Given the description of an element on the screen output the (x, y) to click on. 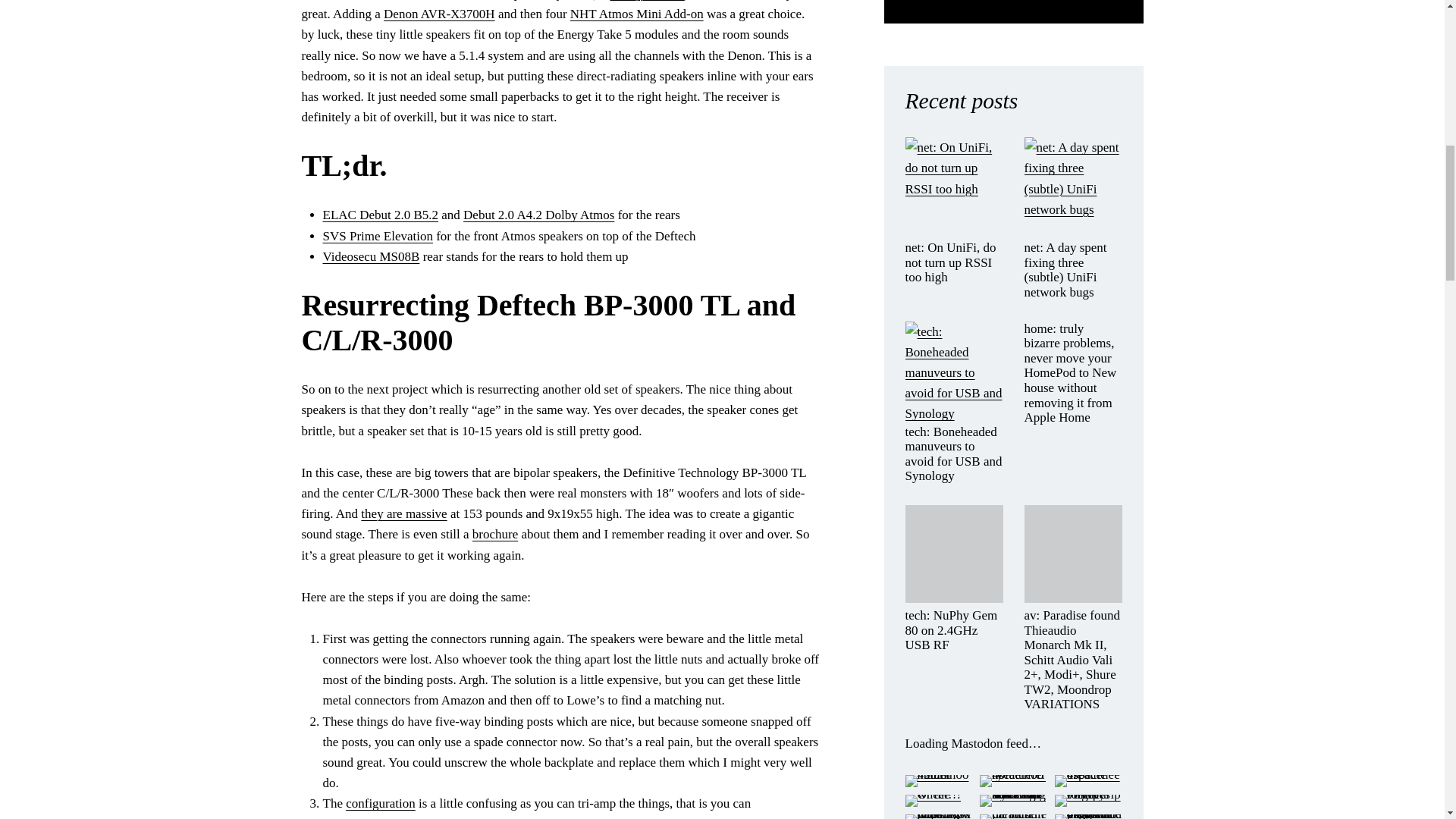
Videosecu MS08B (371, 256)
brochure (494, 534)
they are massive (403, 513)
Denon AVR-X3700H (439, 13)
configuration (380, 803)
Debut 2.0 A4.2 Dolby Atmos (538, 214)
NHT Atmos Mini Add-on (636, 13)
ELAC Debut 2.0 B5.2 (381, 214)
SVS Prime Elevation (377, 236)
